Given the description of an element on the screen output the (x, y) to click on. 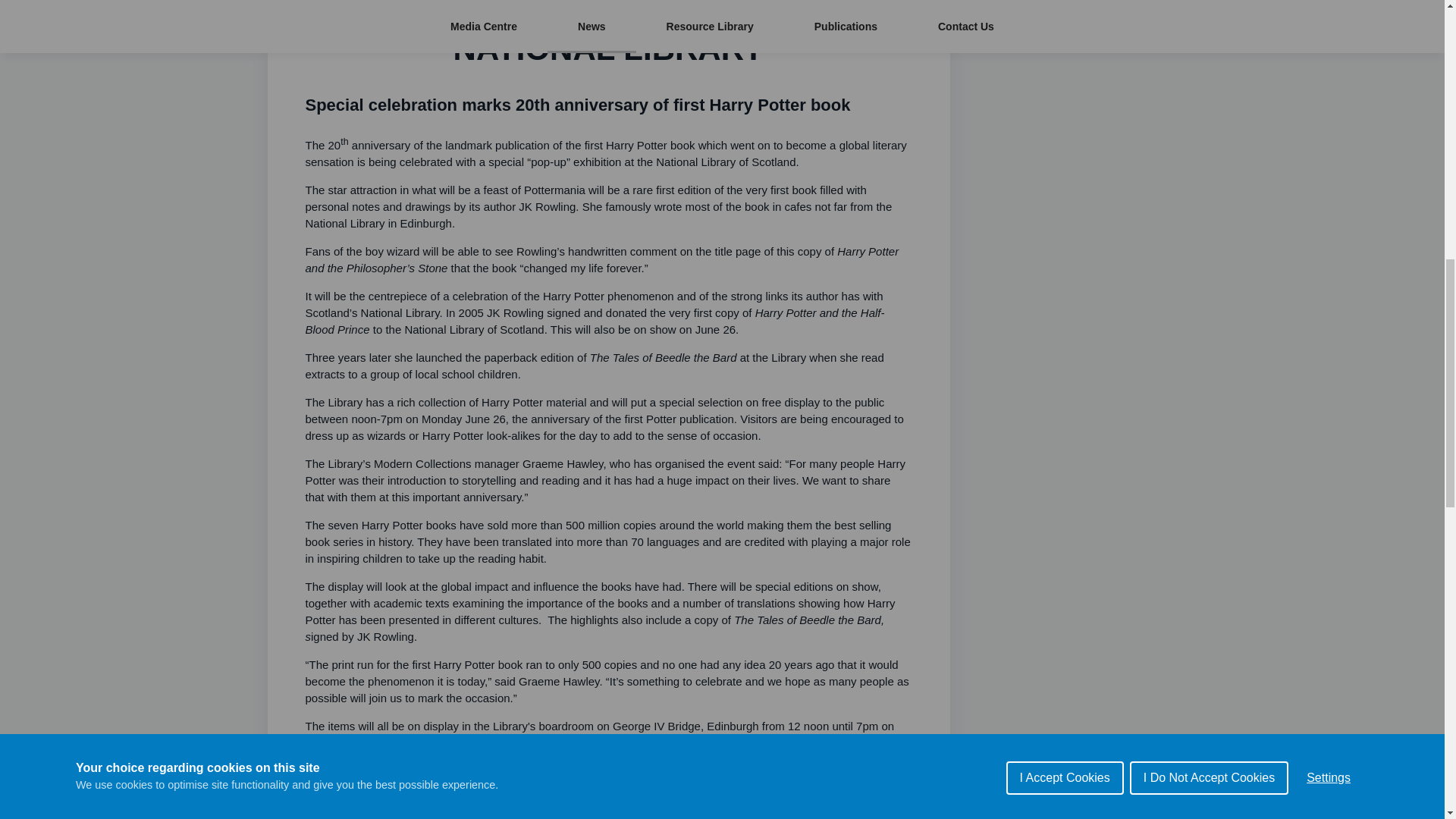
Settings (1328, 8)
I Do Not Accept Cookies (1208, 17)
I Accept Cookies (1065, 32)
